Given the description of an element on the screen output the (x, y) to click on. 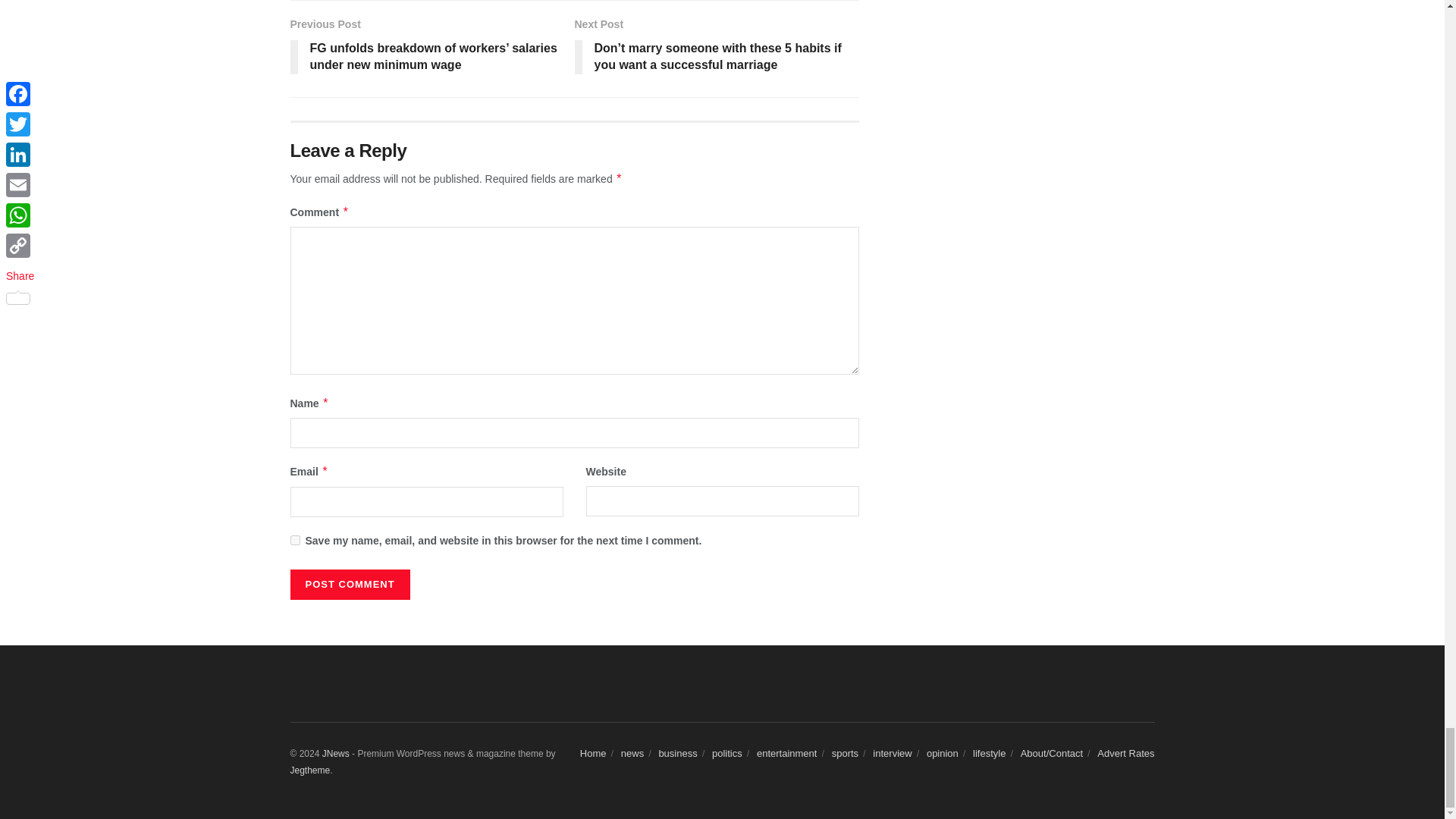
Jegtheme (309, 769)
Post Comment (349, 584)
yes (294, 540)
